Given the description of an element on the screen output the (x, y) to click on. 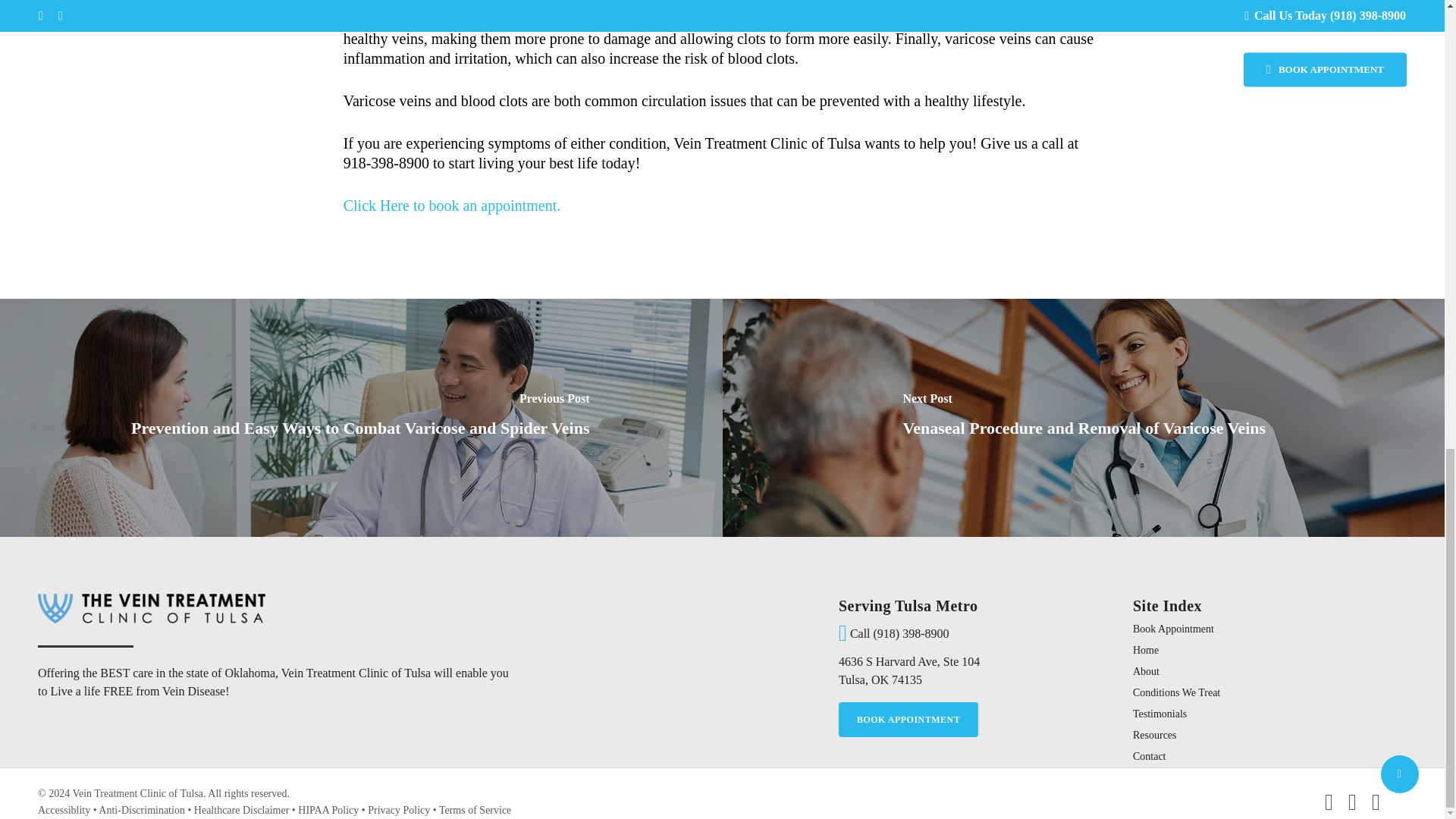
About (1265, 671)
Click Here to book an appointment.  (453, 205)
Book Appointment (1265, 629)
Conditions We Treat (908, 670)
Testimonials (1265, 693)
BOOK APPOINTMENT (1265, 713)
Home (908, 719)
